Given the description of an element on the screen output the (x, y) to click on. 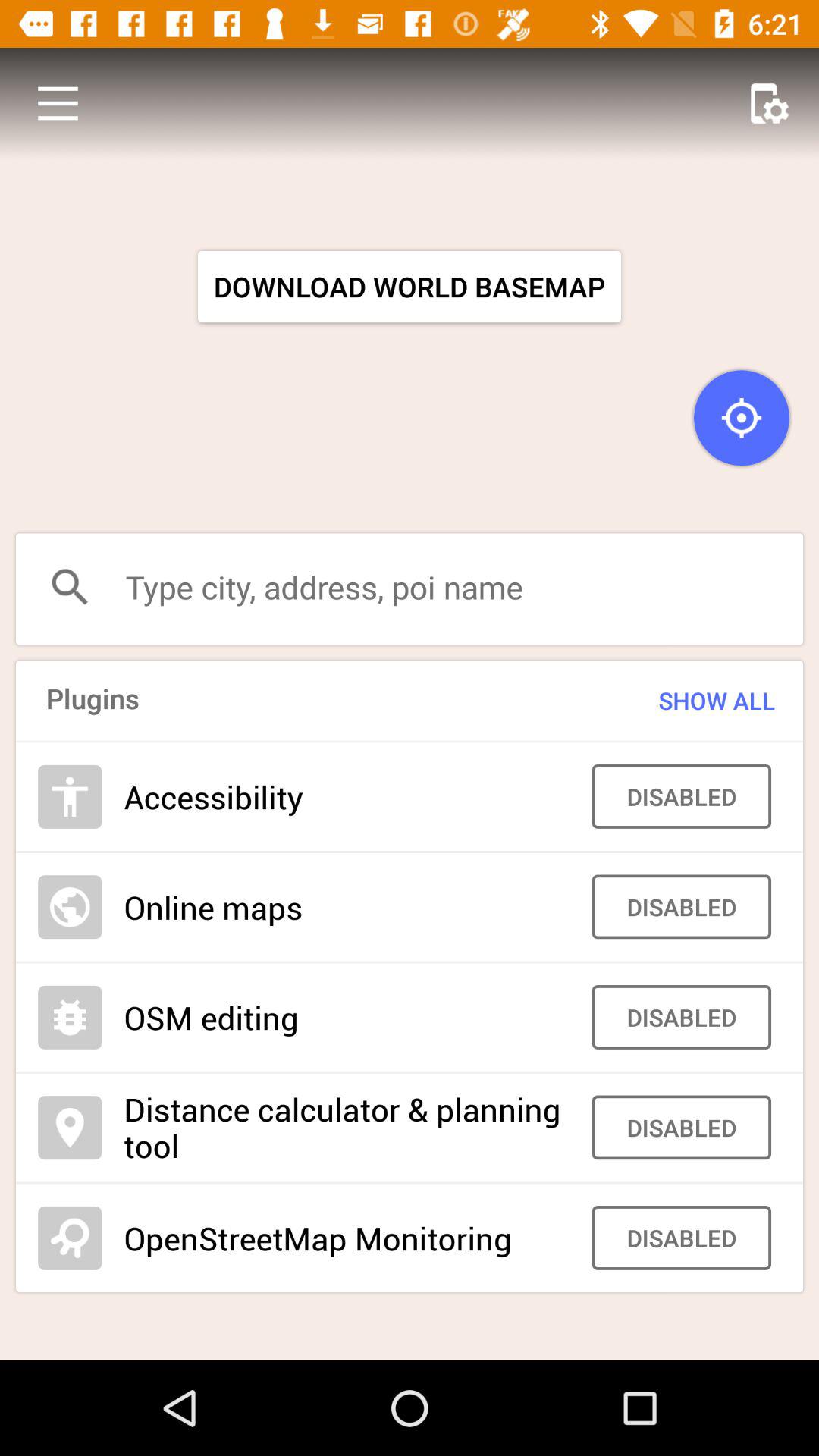
turn on the icon above the type city address (741, 417)
